Given the description of an element on the screen output the (x, y) to click on. 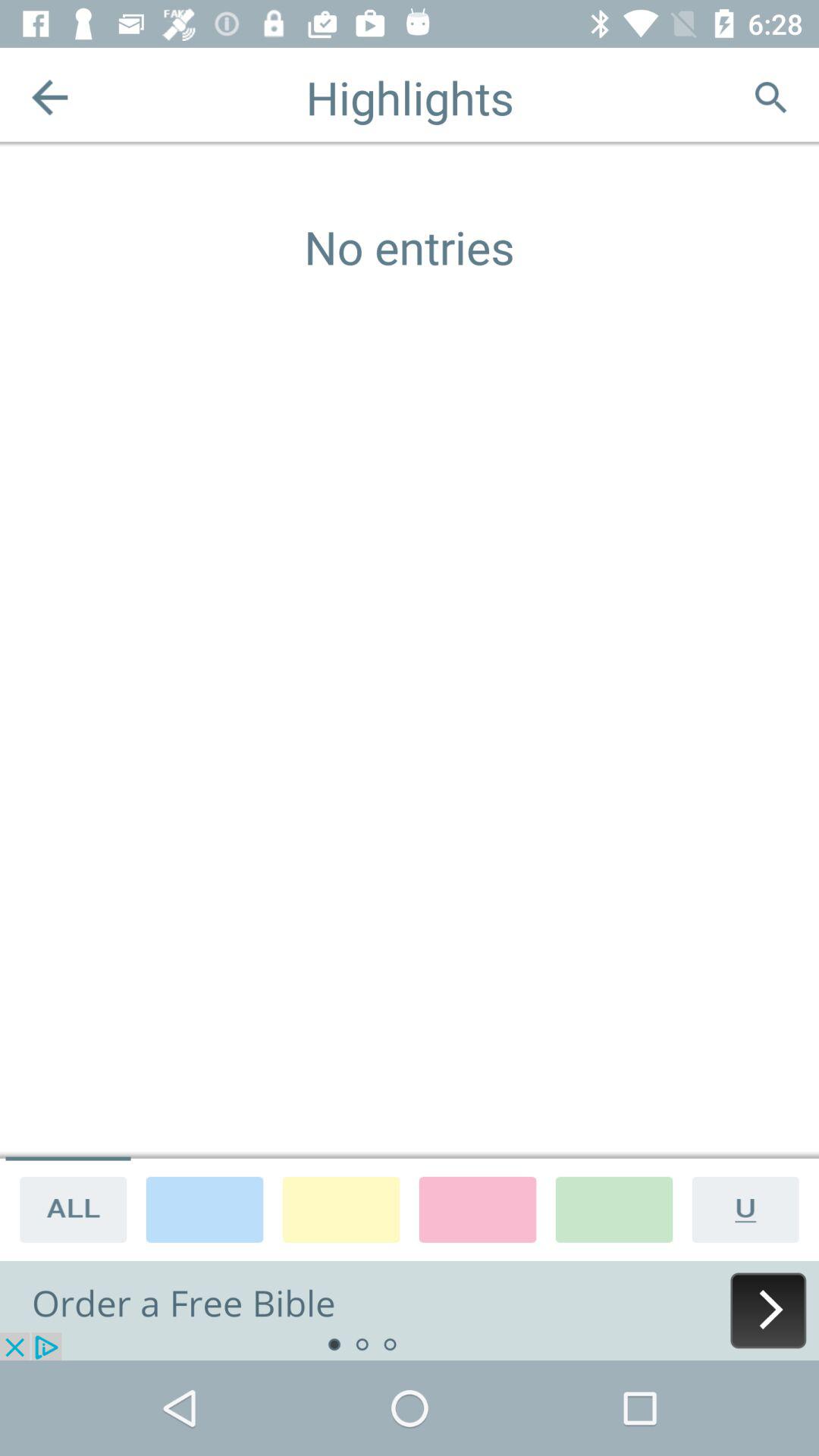
choose color (341, 1208)
